Given the description of an element on the screen output the (x, y) to click on. 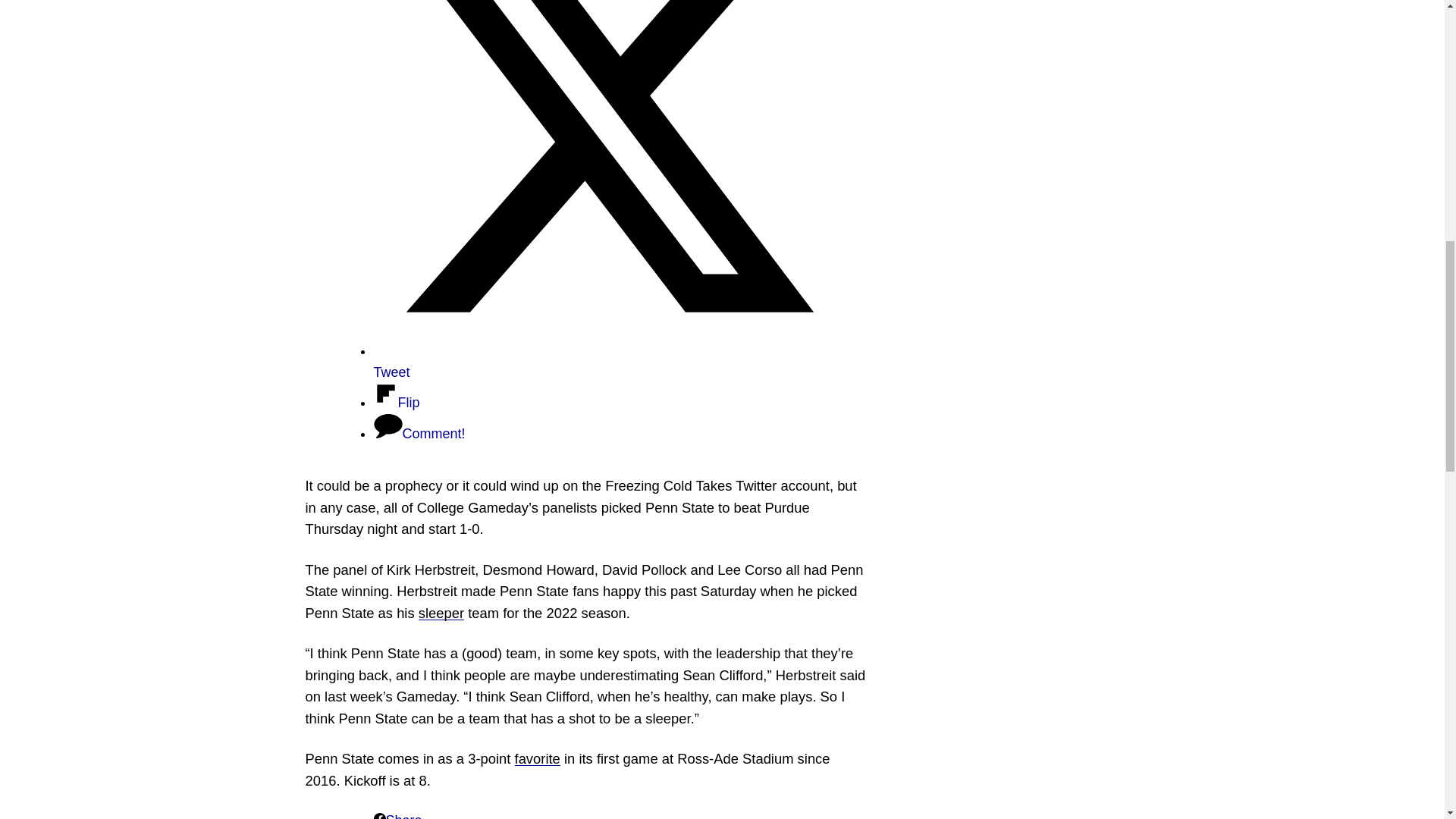
Share on Tweet (603, 361)
Share on Comment! (418, 433)
Share on Share (397, 816)
Share on Flip (395, 402)
